Given the description of an element on the screen output the (x, y) to click on. 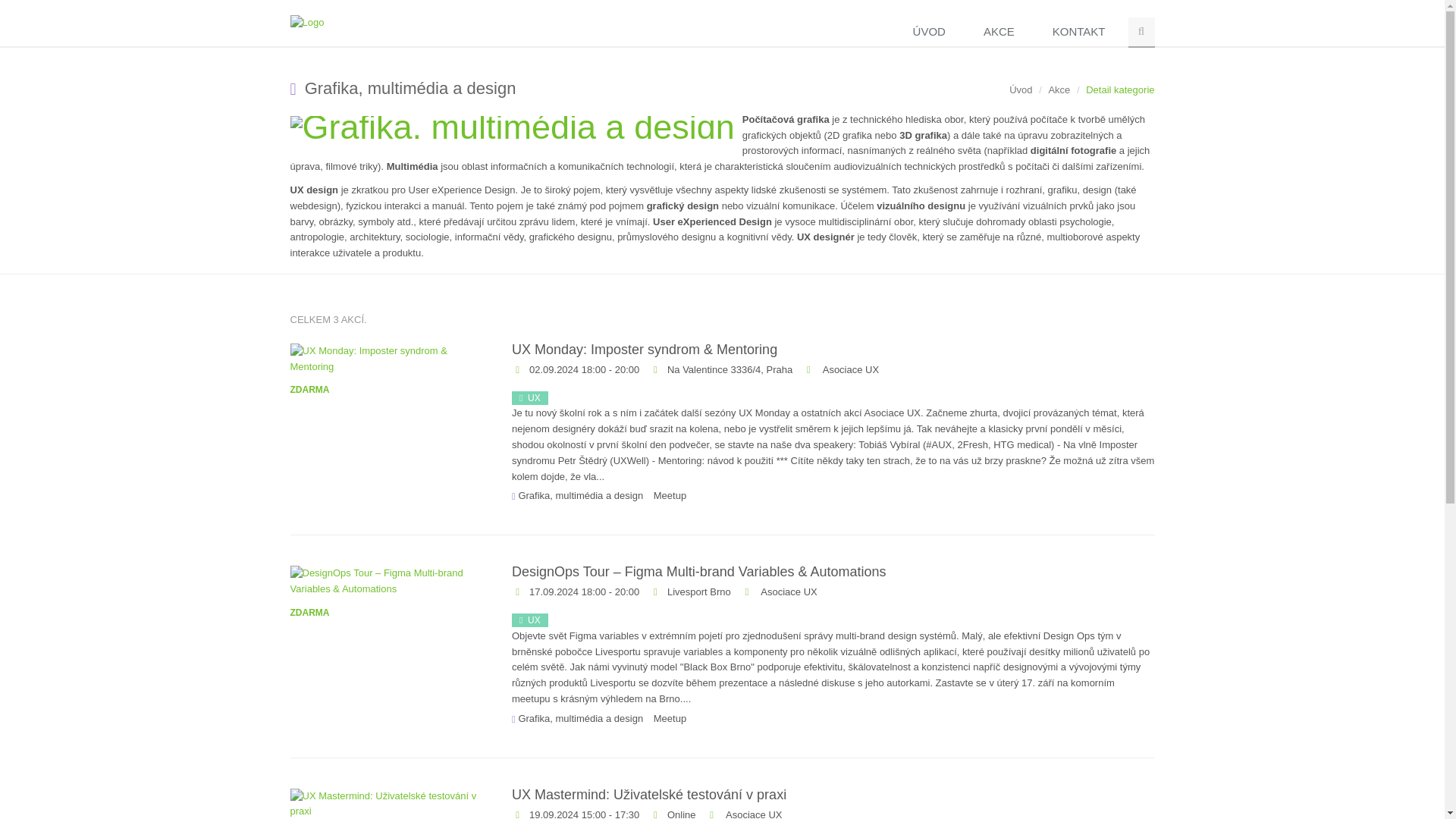
  UX (530, 620)
Online (680, 814)
Asociace UX (787, 591)
AKCE (1002, 32)
Akce (1059, 89)
Asociace UX (850, 369)
KONTAKT (1082, 32)
Livesport Brno (698, 591)
  UX (530, 397)
Asociace UX (752, 814)
